Given the description of an element on the screen output the (x, y) to click on. 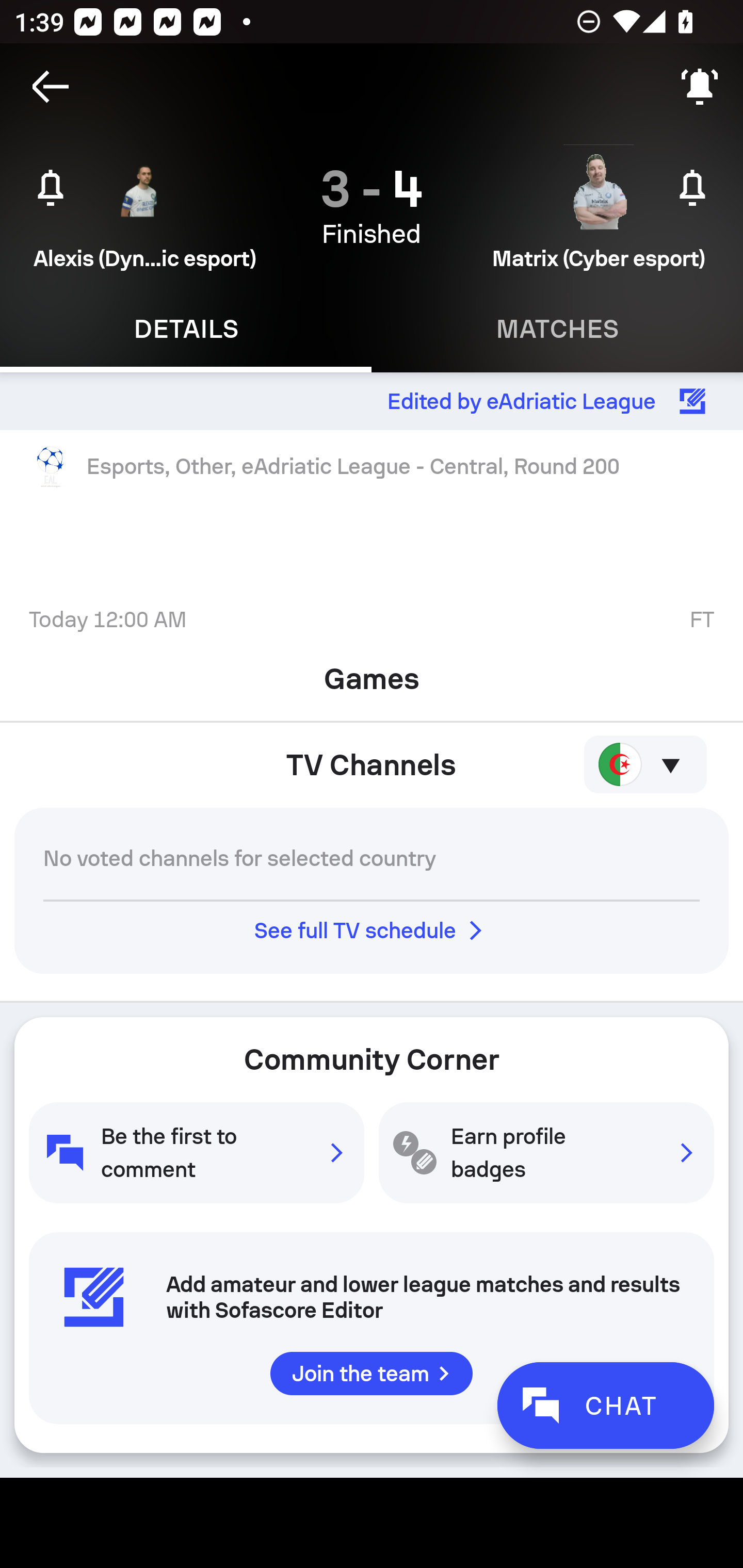
Navigate up (50, 86)
Matches MATCHES (557, 329)
Edited by eAdriatic League (371, 401)
Games (371, 672)
See full TV schedule (371, 930)
Be the first to comment (196, 1152)
Earn profile badges (546, 1152)
Join the team (371, 1373)
CHAT (605, 1405)
